Given the description of an element on the screen output the (x, y) to click on. 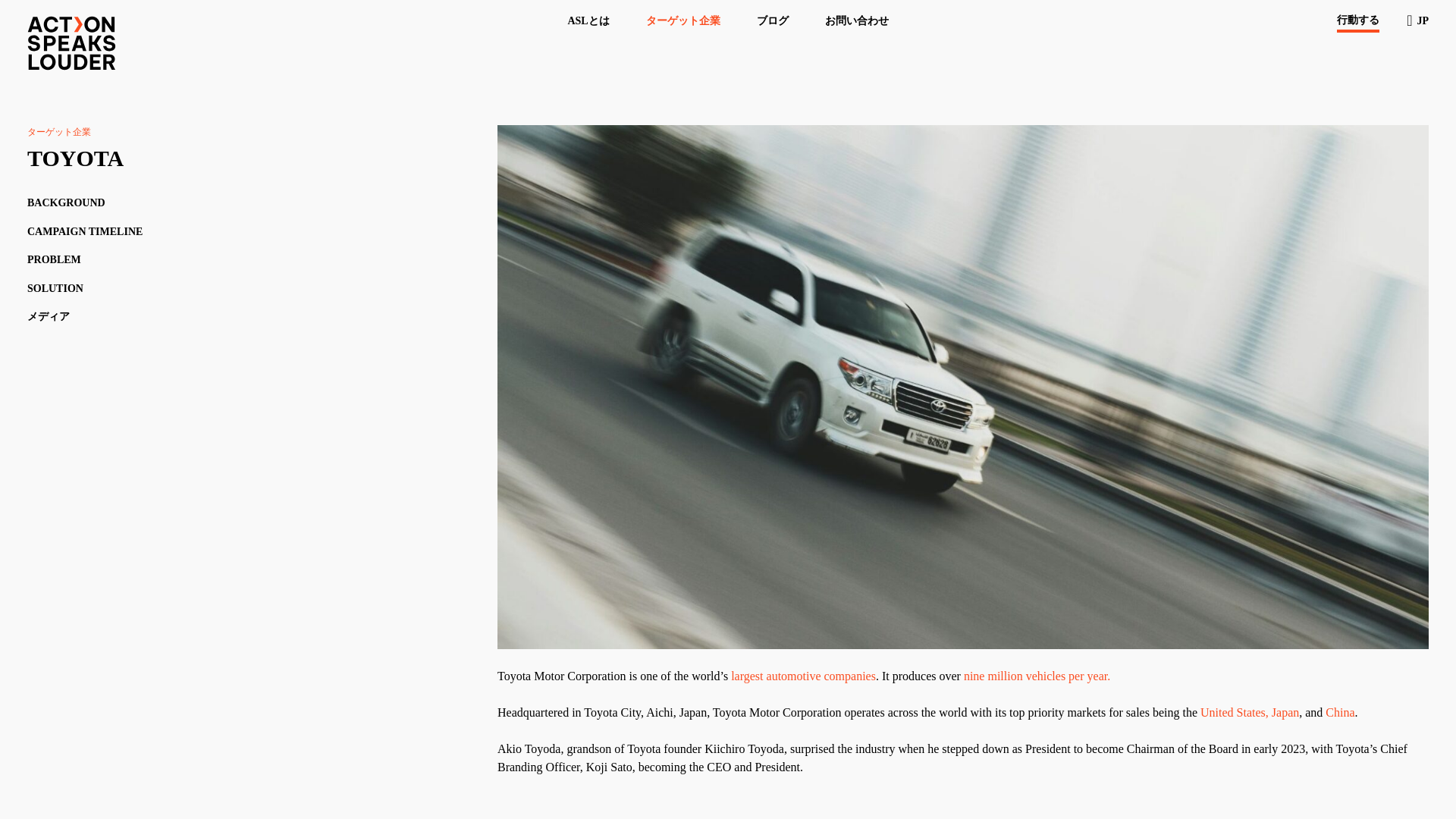
SOLUTION (54, 288)
nine million vehicles per year. (1035, 675)
largest automotive companies (803, 675)
JP (1417, 20)
PROBLEM (54, 259)
CAMPAIGN TIMELINE (84, 232)
BACKGROUND (65, 202)
SOLUTION (54, 288)
United States, Japan (1248, 712)
CAMPAIGN TIMELINE (84, 232)
BACKGROUND (65, 202)
PROBLEM (54, 259)
China (1339, 712)
